Given the description of an element on the screen output the (x, y) to click on. 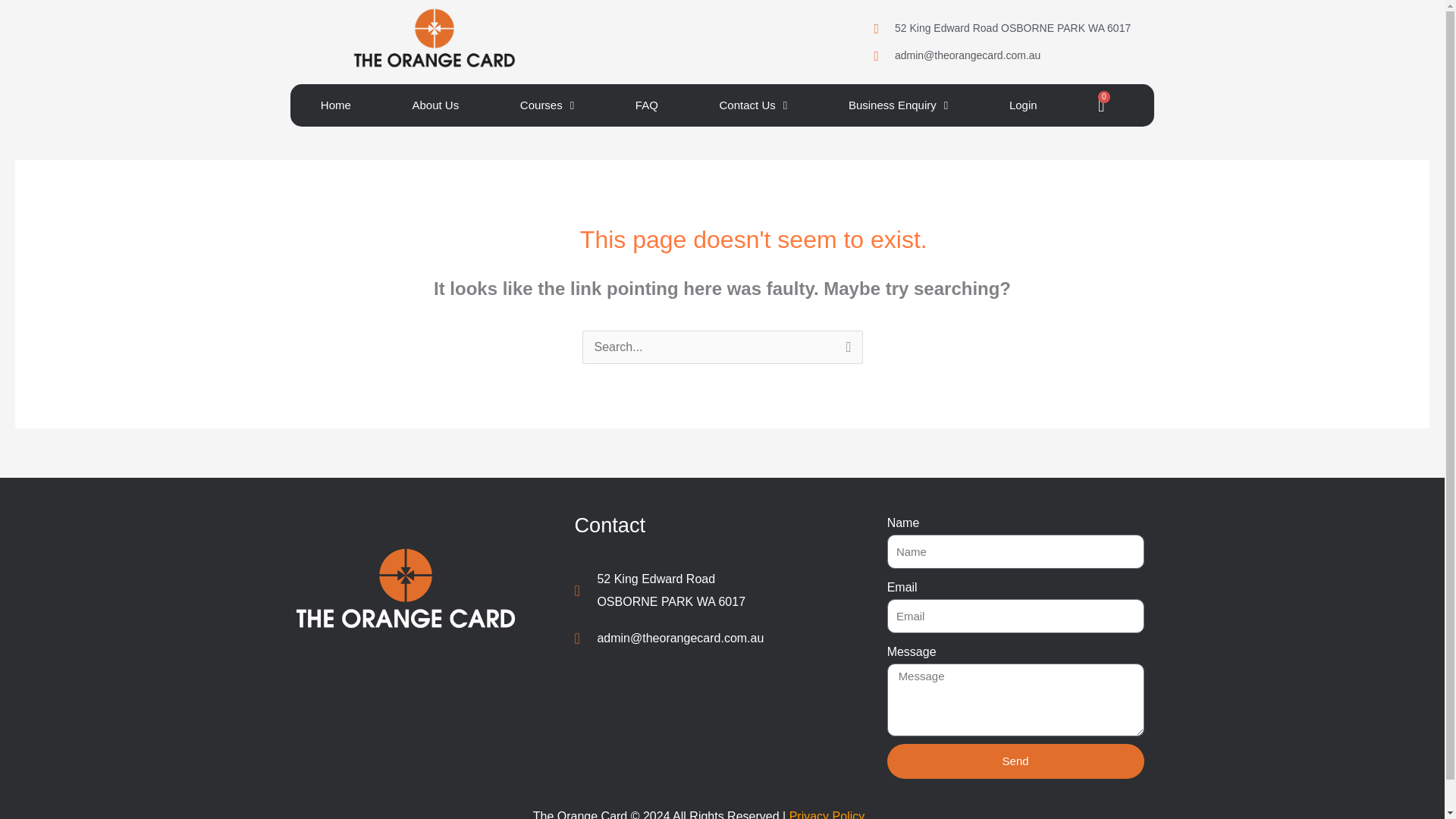
52 King Edward Road OSBORNE PARK WA 6017 (1010, 28)
Contact Us (705, 590)
Home (752, 105)
Login (335, 105)
Business Enquiry (1022, 105)
About Us (1101, 105)
FAQ (898, 105)
Courses (435, 105)
